Given the description of an element on the screen output the (x, y) to click on. 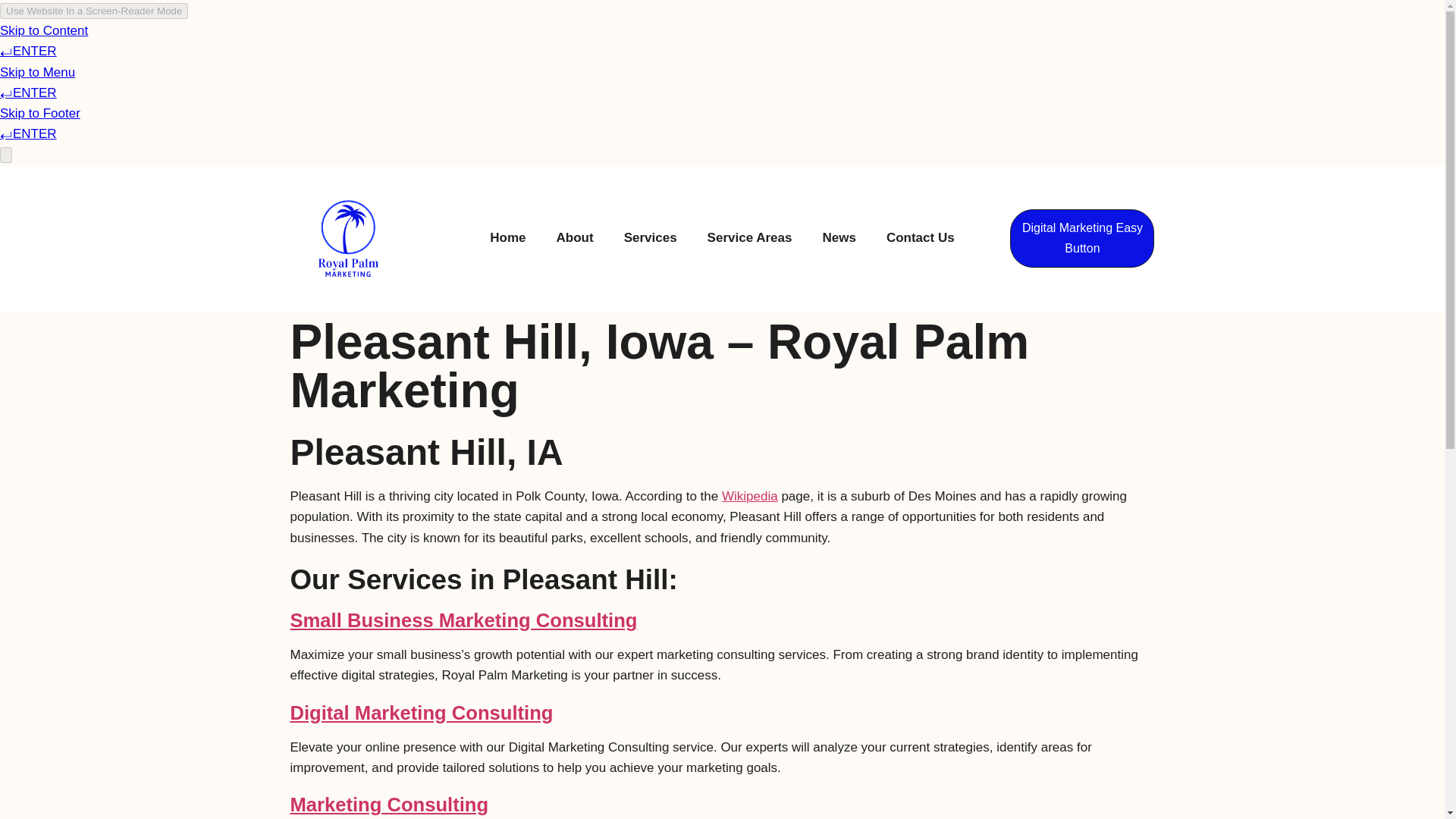
Small Business Marketing Consulting (463, 619)
Wikipedia (749, 495)
Service Areas (749, 237)
News (839, 237)
Home (507, 237)
Marketing Consulting (388, 803)
Digital Marketing Easy Button (1082, 237)
Digital Marketing Consulting (421, 712)
Contact Us (920, 237)
About (575, 237)
